Given the description of an element on the screen output the (x, y) to click on. 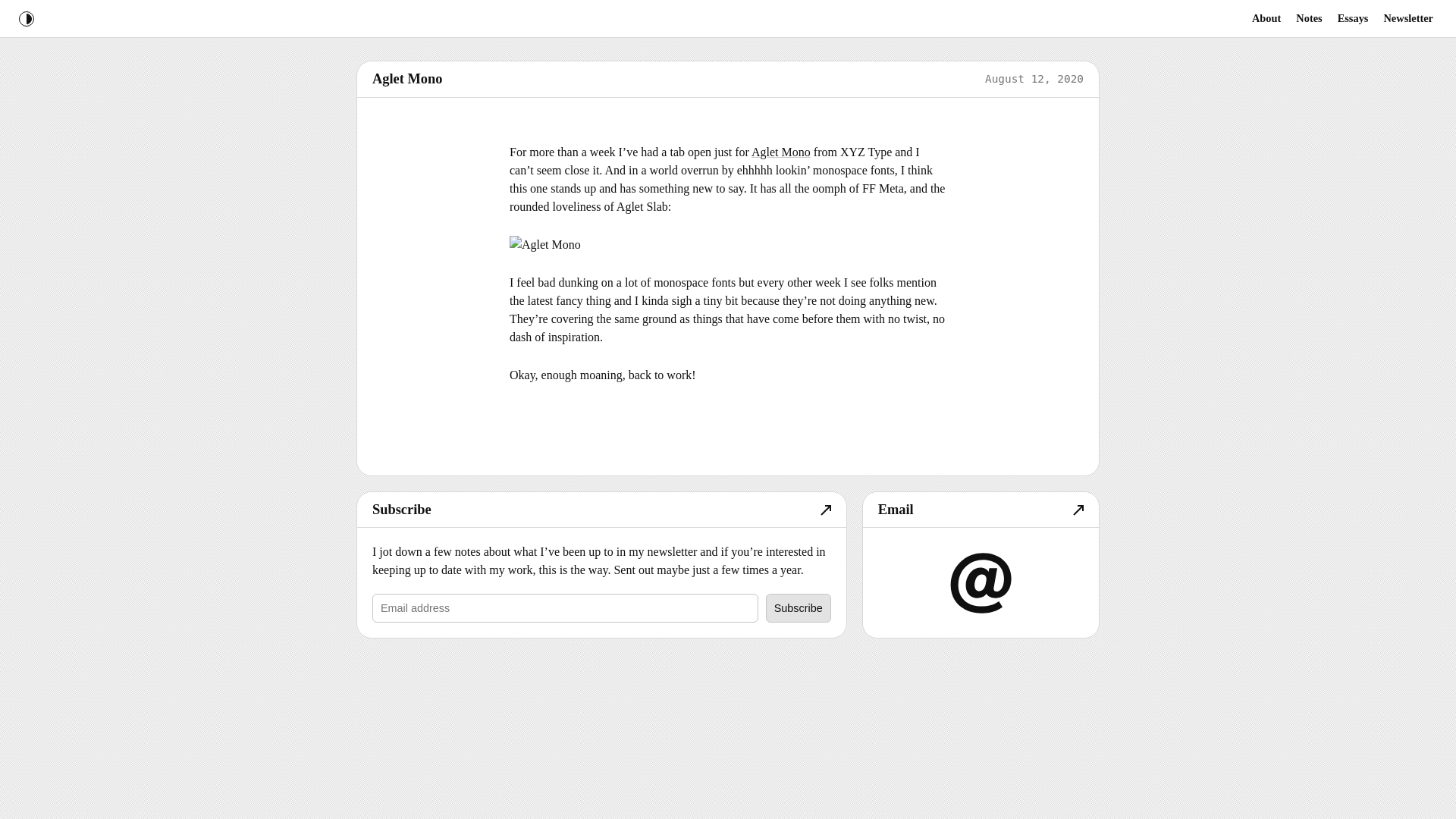
Subscribe (798, 607)
Notes (1308, 18)
Essays (1352, 18)
Aglet Mono (780, 151)
Newsletter (1408, 18)
Email (981, 510)
Subscribe (798, 607)
Subscribe (600, 510)
About (1266, 18)
